Given the description of an element on the screen output the (x, y) to click on. 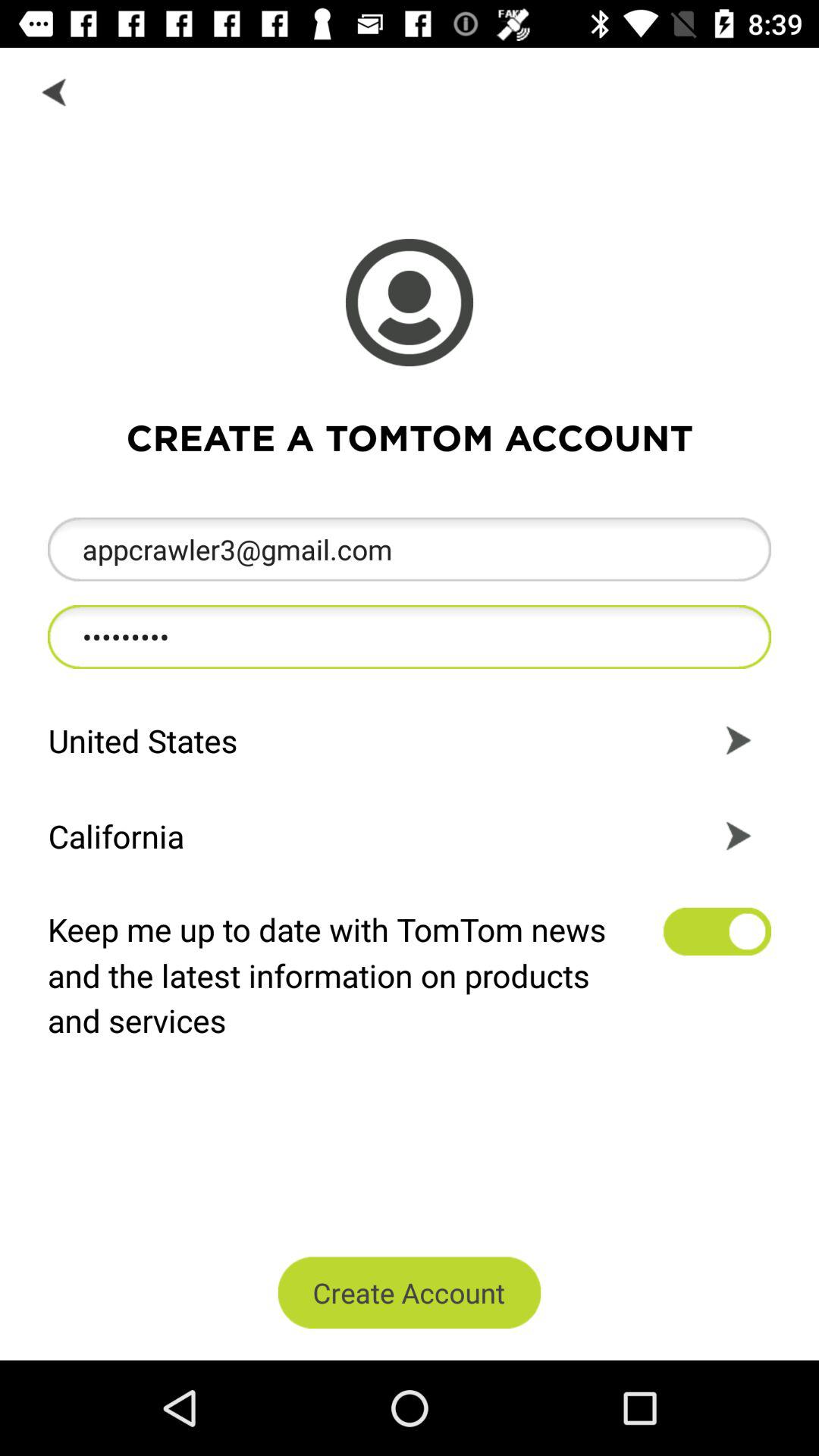
get product updates and news (717, 931)
